Given the description of an element on the screen output the (x, y) to click on. 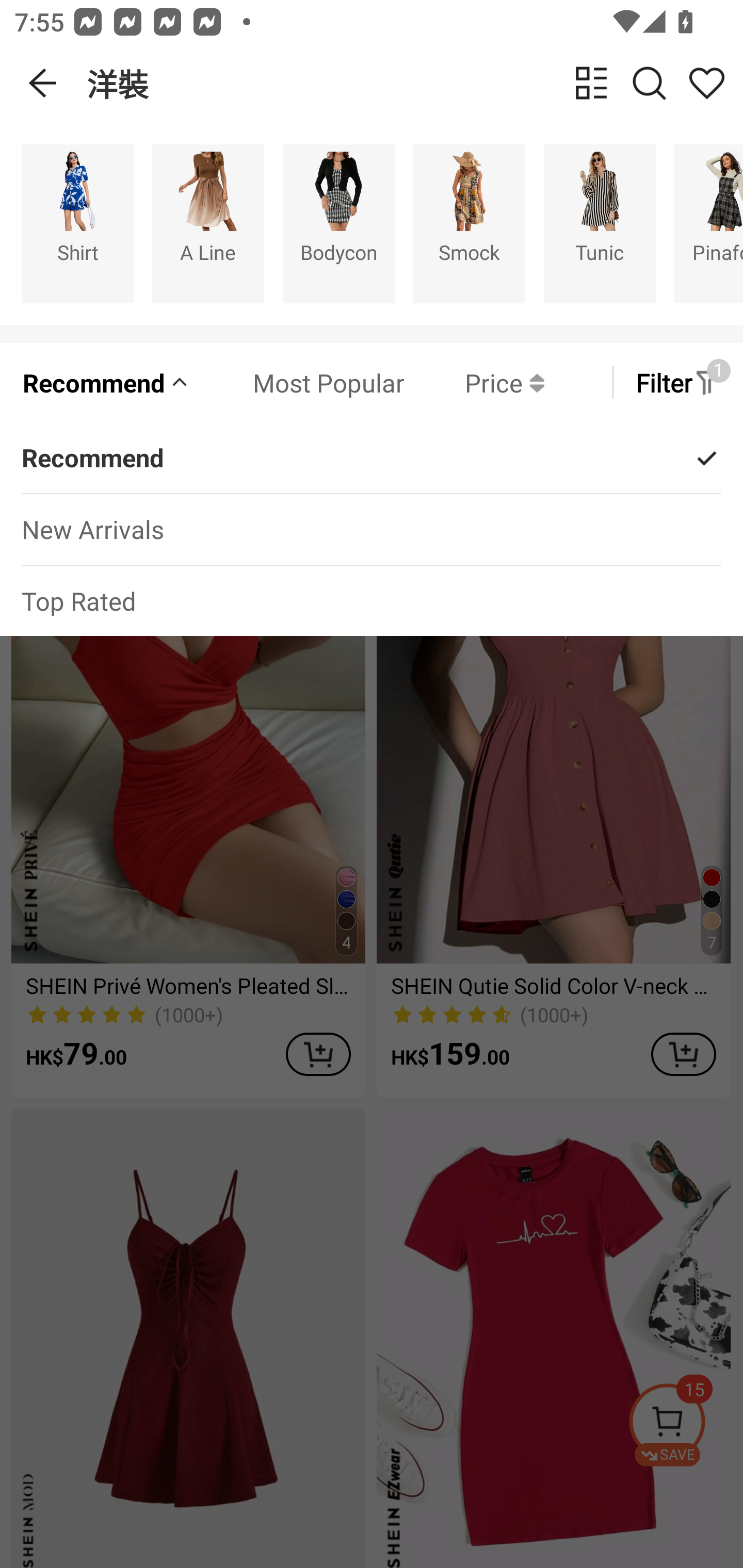
洋裝 change view Search Share (414, 82)
change view (591, 82)
Search (648, 82)
Share (706, 82)
Shirt (77, 223)
A Line (208, 223)
Bodycon (338, 223)
Smock (469, 223)
Tunic (599, 223)
Pinafore (708, 223)
Recommend (106, 382)
Most Popular (297, 382)
Price (474, 382)
Filter 1 (677, 382)
